Given the description of an element on the screen output the (x, y) to click on. 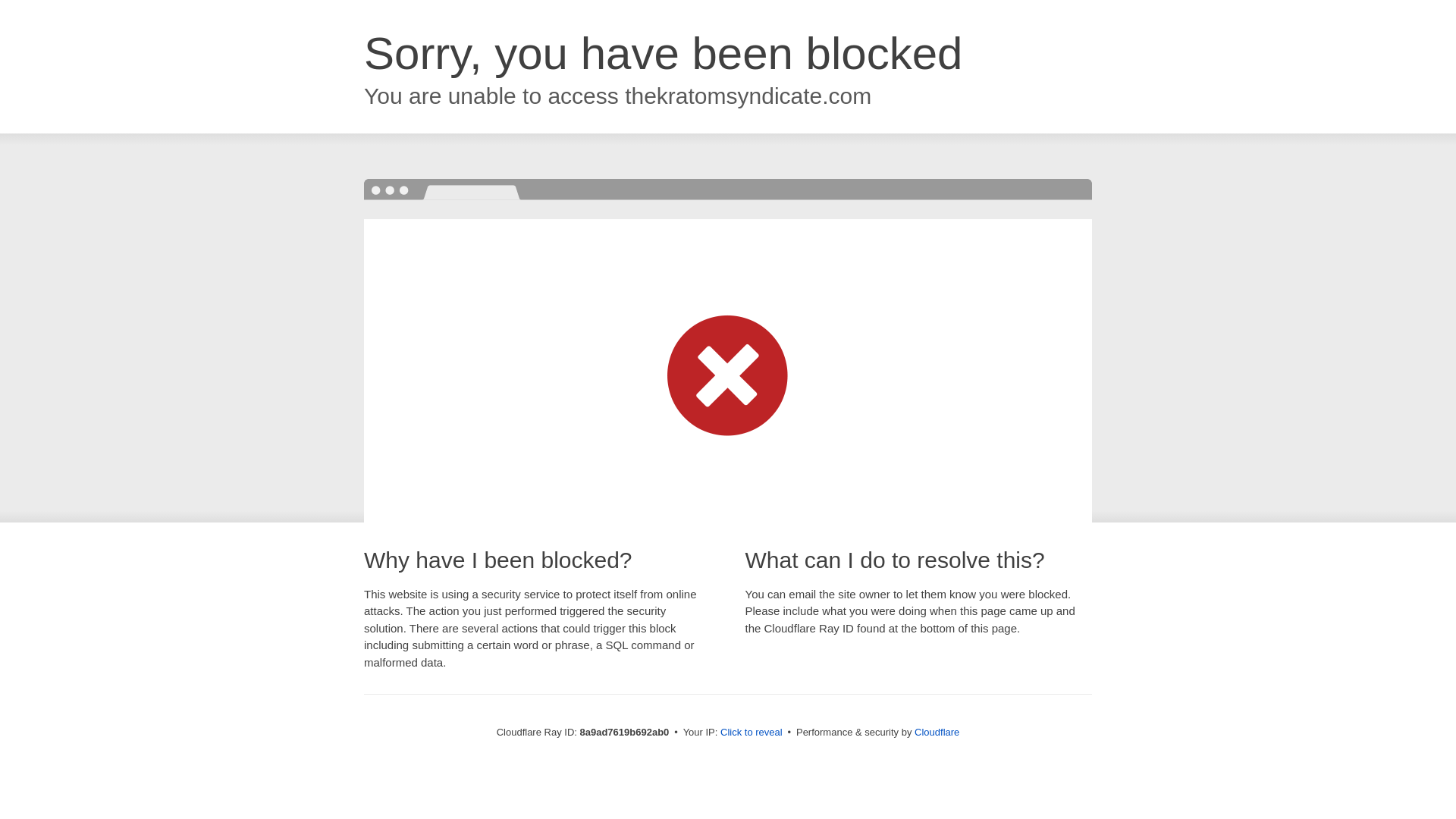
Click to reveal (751, 732)
Cloudflare (936, 731)
